Given the description of an element on the screen output the (x, y) to click on. 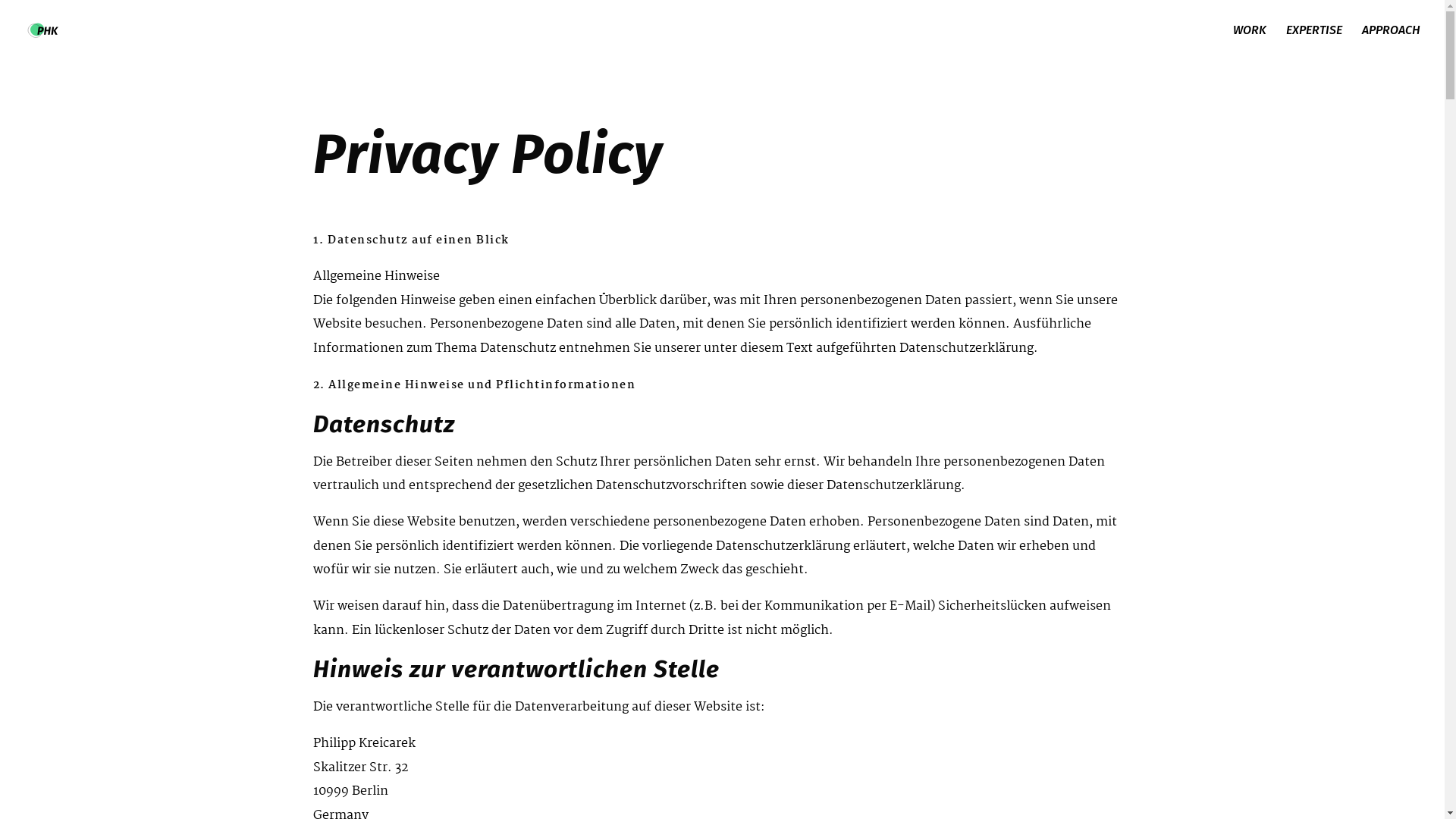
APPROACH Element type: text (1390, 42)
WORK Element type: text (1249, 42)
EXPERTISE Element type: text (1314, 42)
